Given the description of an element on the screen output the (x, y) to click on. 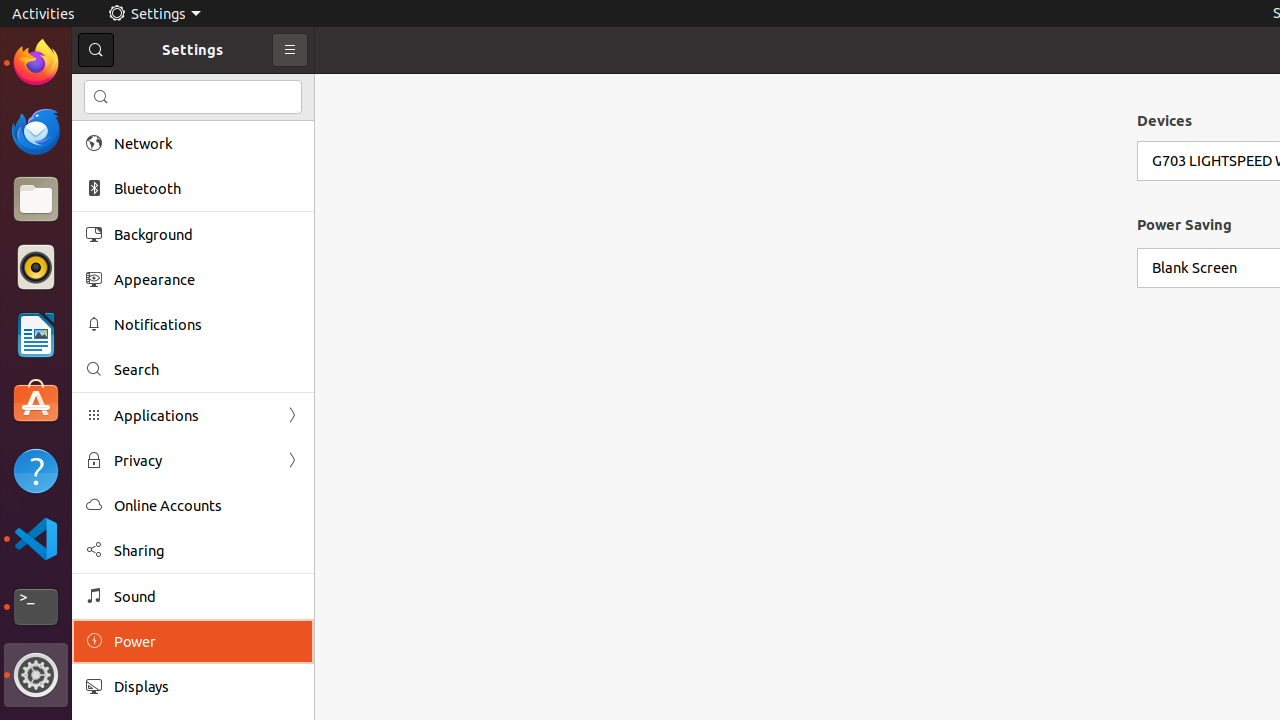
luyi1 Element type: label (133, 89)
Notifications Element type: label (207, 324)
Terminal Element type: push-button (36, 607)
Primary Menu Element type: toggle-button (290, 50)
Sharing Element type: label (207, 550)
